Given the description of an element on the screen output the (x, y) to click on. 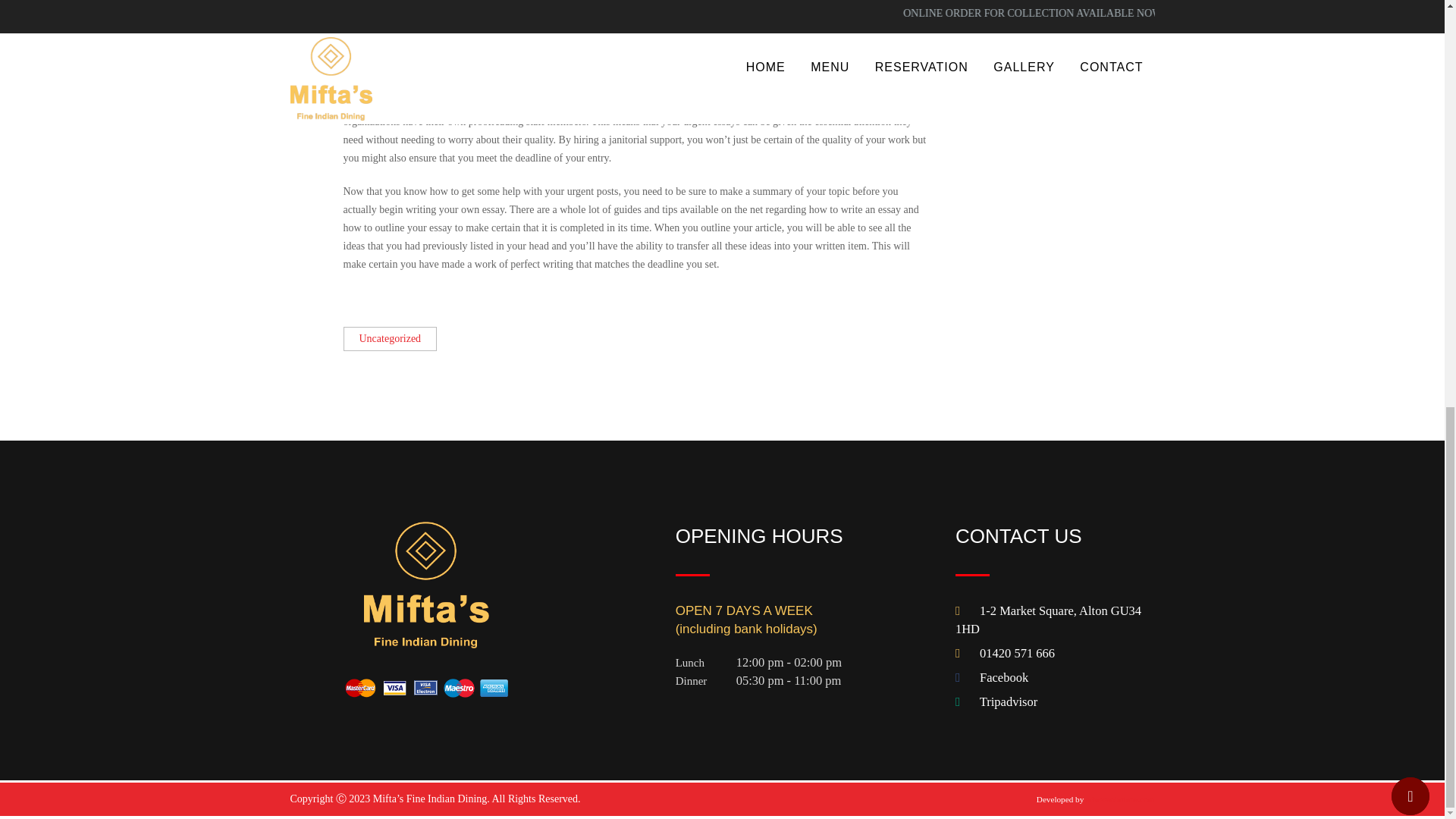
arbreesolutions.com (1120, 798)
Facebook (1003, 677)
Uncategorized (389, 338)
01420 571 666 (1016, 653)
Tripadvisor (1007, 701)
